Given the description of an element on the screen output the (x, y) to click on. 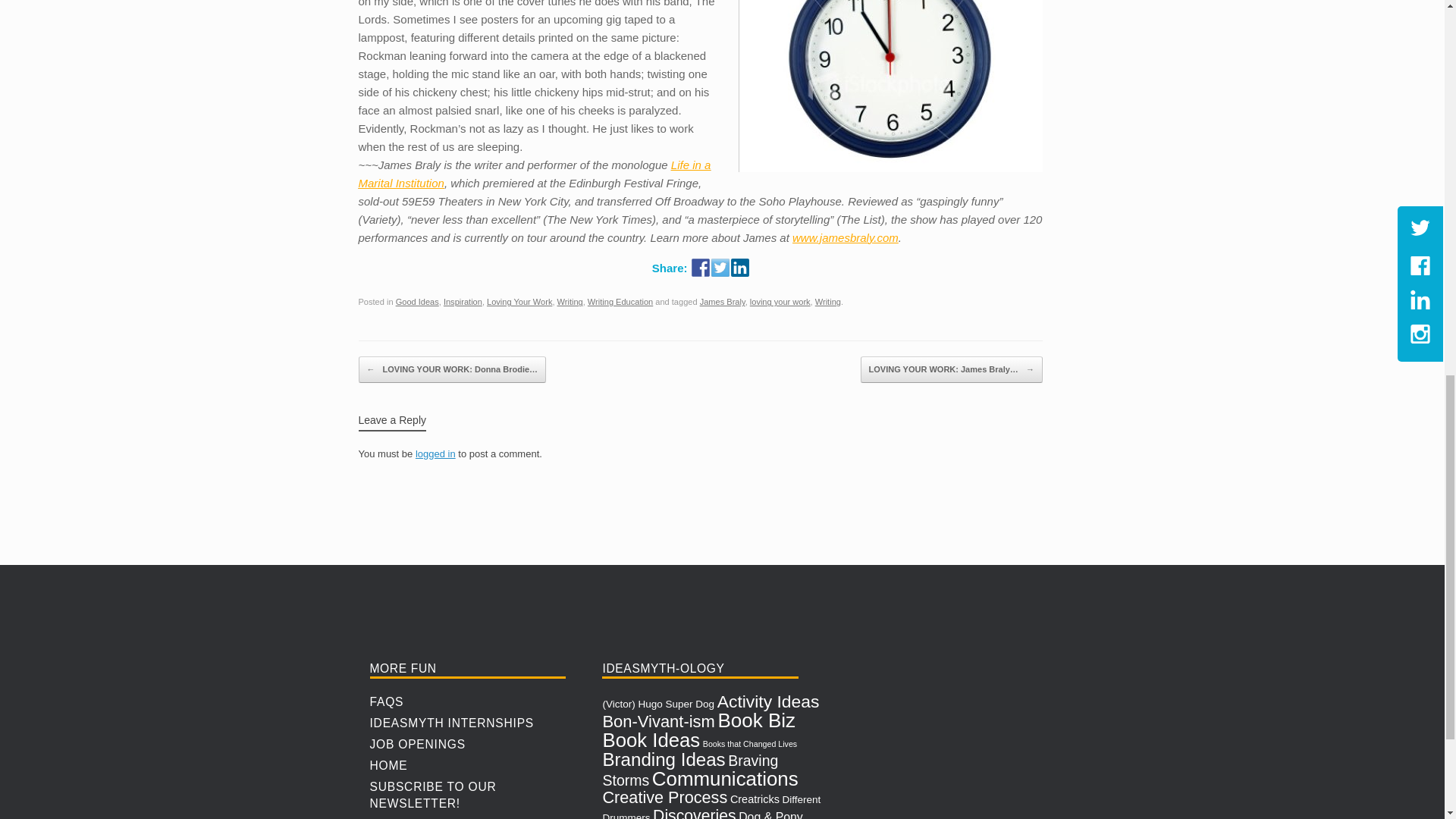
Good Ideas (417, 301)
Share on Linkedin (739, 267)
Share on Twitter (720, 267)
www.jamesbraly.com (845, 237)
Loving Your Work (518, 301)
Share on Facebook (700, 267)
Life in a Marital Institution (534, 173)
Inspiration (462, 301)
